Given the description of an element on the screen output the (x, y) to click on. 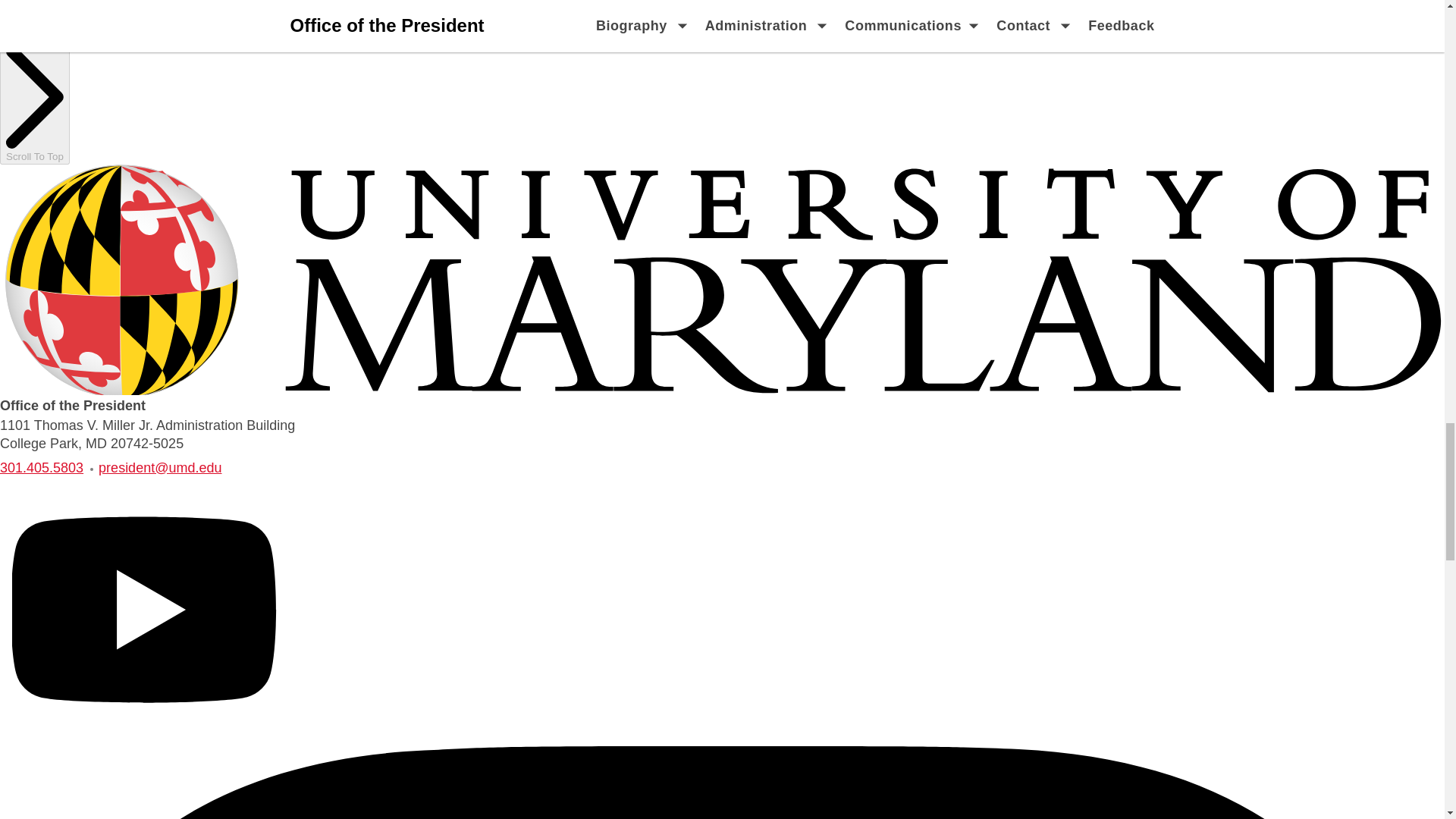
301.405.5803 (41, 467)
